Given the description of an element on the screen output the (x, y) to click on. 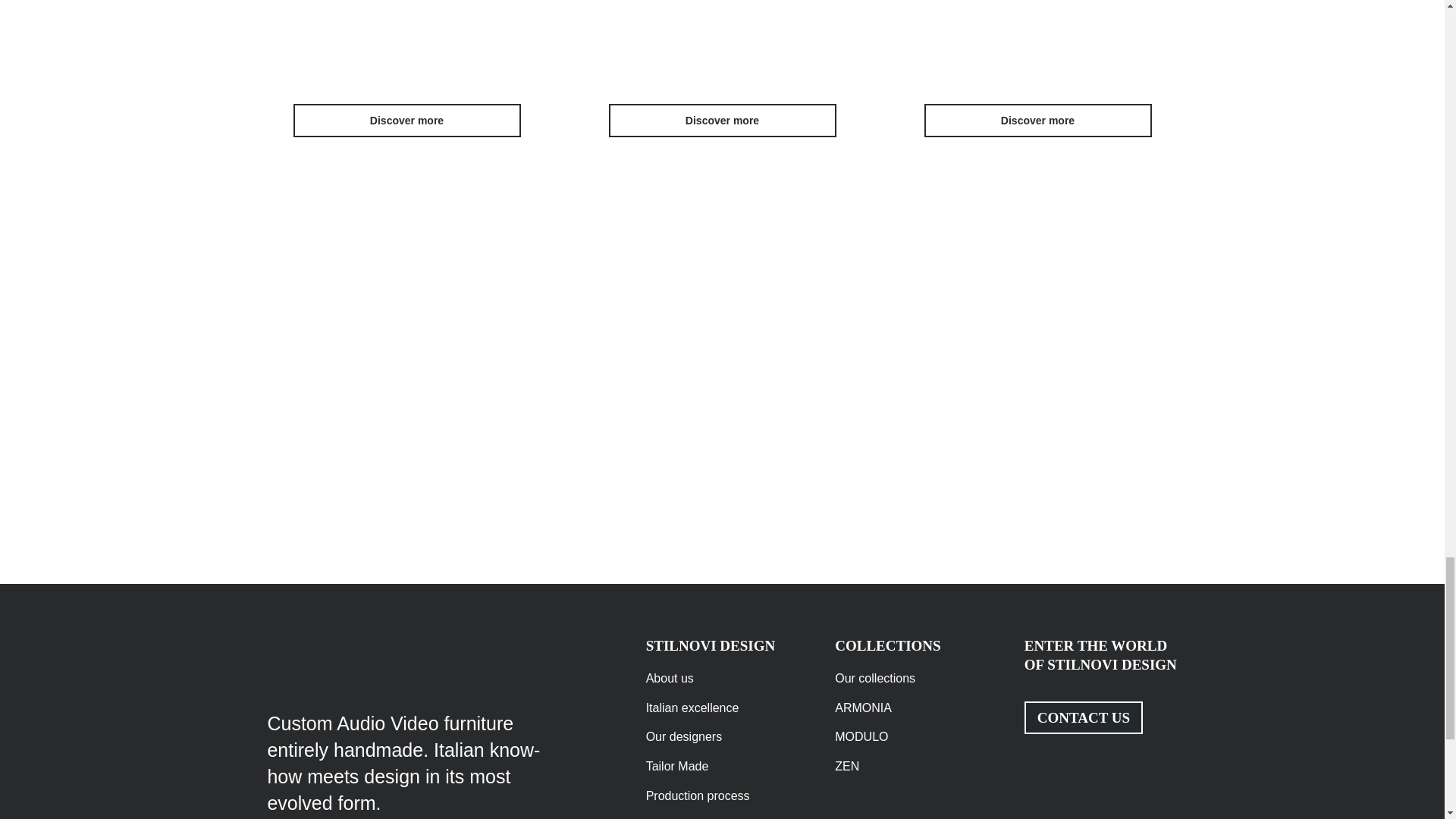
ARMONIA (911, 708)
Tailor Made (722, 766)
Discover more (1037, 120)
Discover more (721, 120)
Production process (722, 796)
Our collections (911, 679)
Discover more (405, 120)
Our designers (722, 737)
MODULO (911, 737)
About us (722, 679)
